Given the description of an element on the screen output the (x, y) to click on. 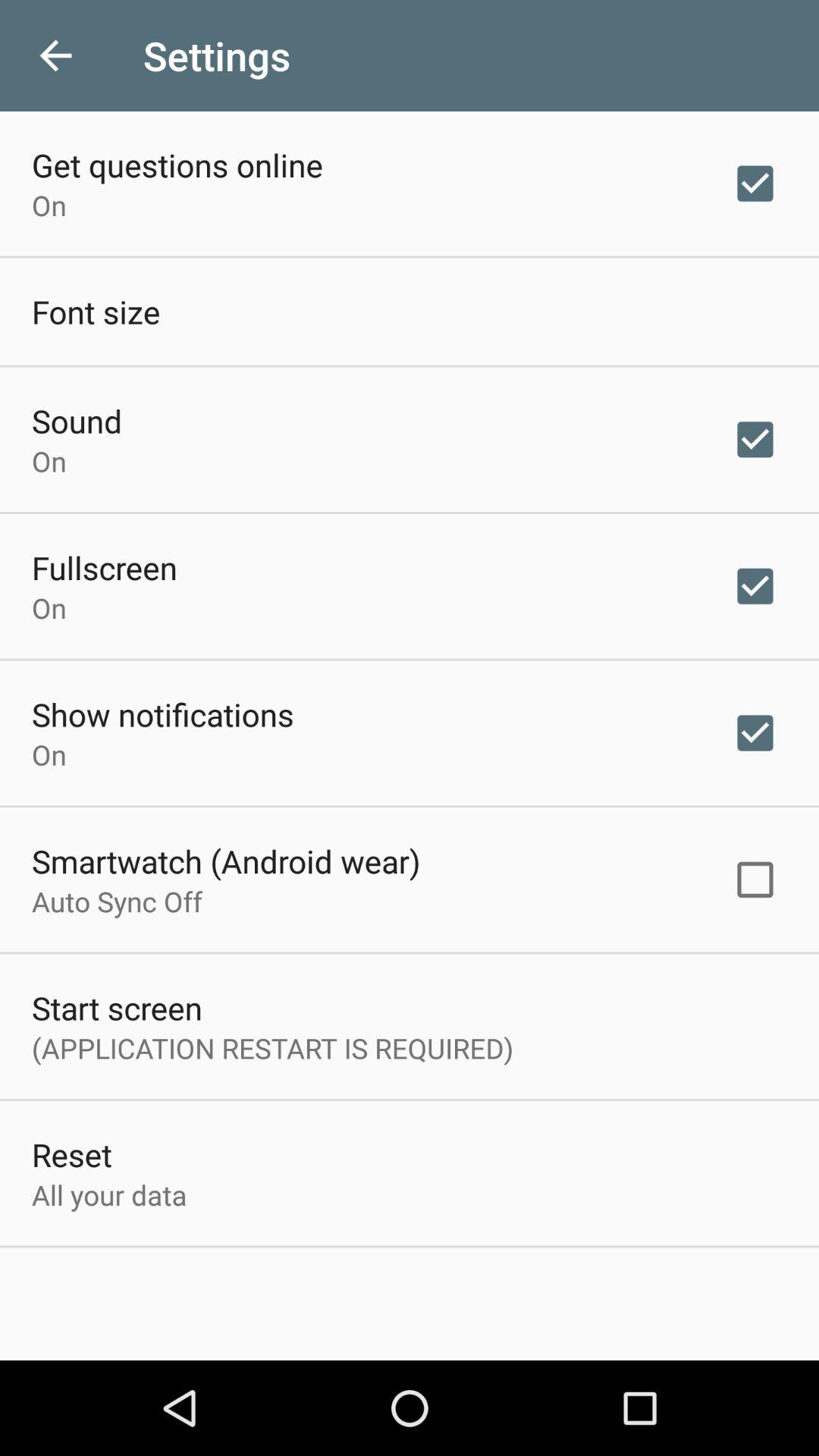
select item below the reset icon (109, 1194)
